Given the description of an element on the screen output the (x, y) to click on. 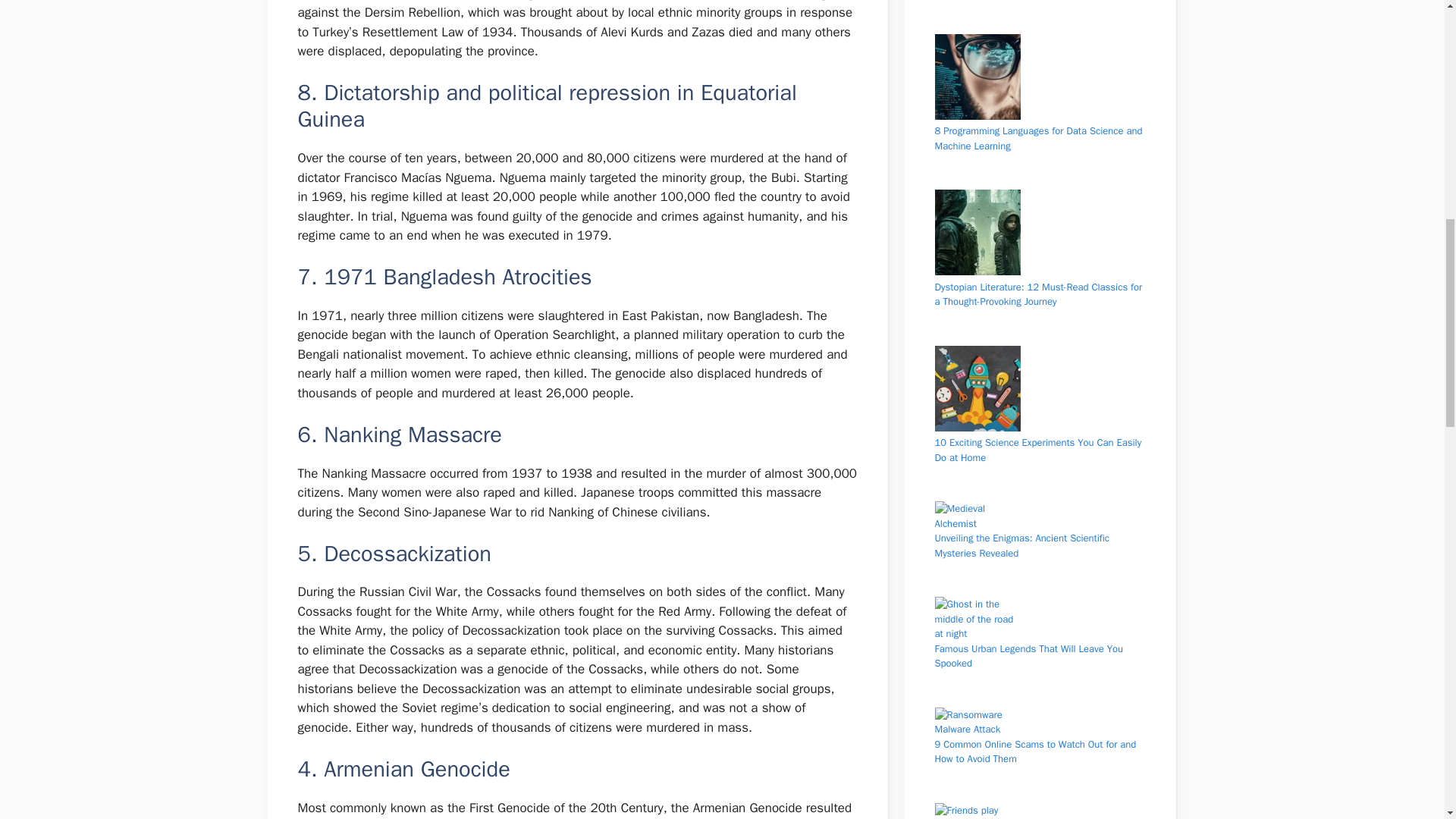
10 Exciting Science Experiments You Can Easily Do at Home (1037, 449)
Scroll back to top (1406, 720)
Unveiling the Enigmas: Ancient Scientific Mysteries Revealed (1021, 545)
Famous Urban Legends That Will Leave You Spooked (1028, 655)
9 Common Online Scams to Watch Out for and How to Avoid Them (1034, 750)
